Given the description of an element on the screen output the (x, y) to click on. 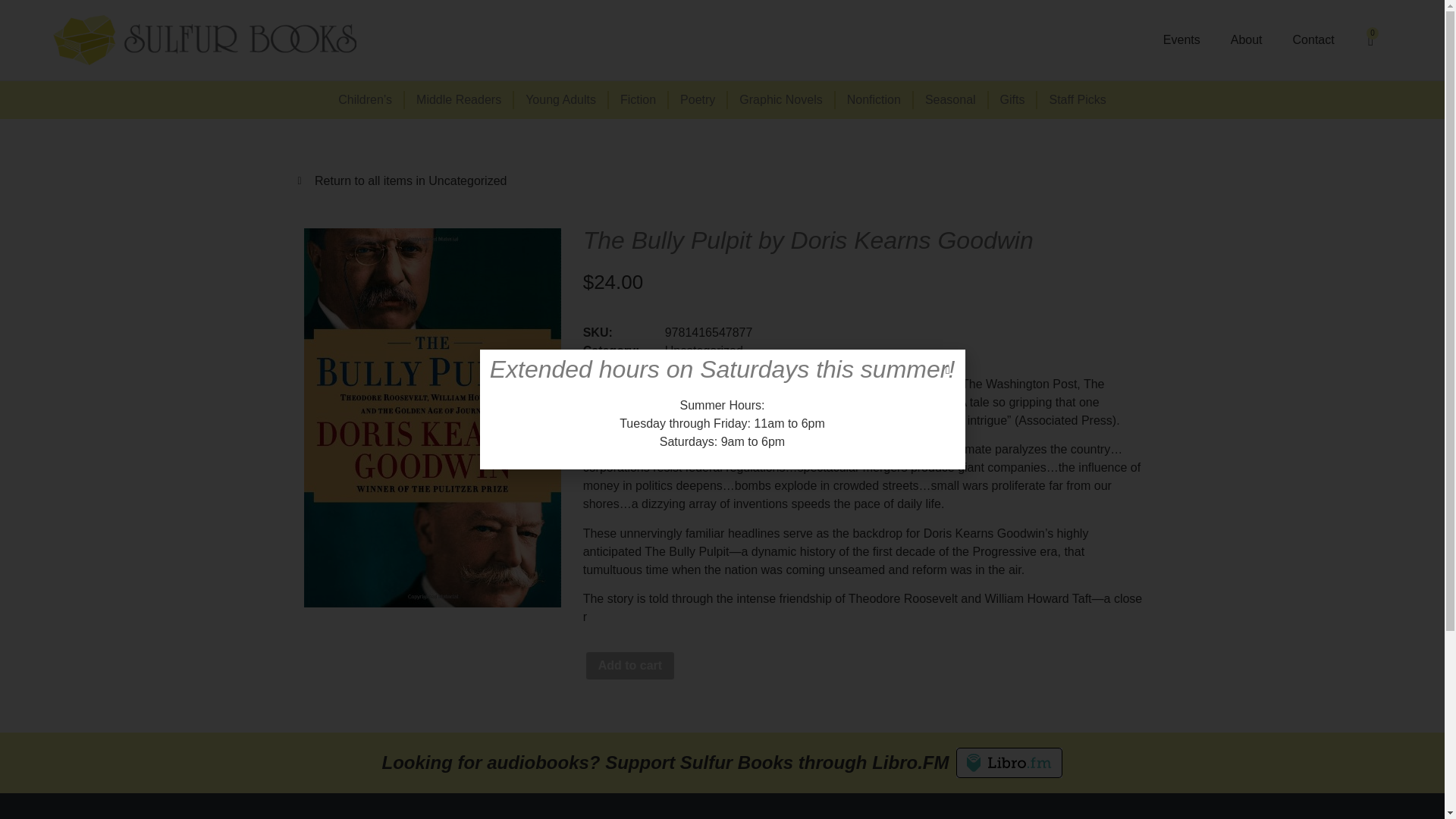
Uncategorized (703, 350)
Poetry (698, 99)
Staff Picks (1076, 99)
Seasonal (951, 99)
Middle Readers (458, 99)
0 (1370, 39)
Add to cart (630, 665)
Graphic Novels (781, 99)
Contact (1313, 40)
Events (1181, 40)
Return to all items in Uncategorized (722, 180)
Nonfiction (874, 99)
About (1246, 40)
Young Adults (560, 99)
Fiction (638, 99)
